Given the description of an element on the screen output the (x, y) to click on. 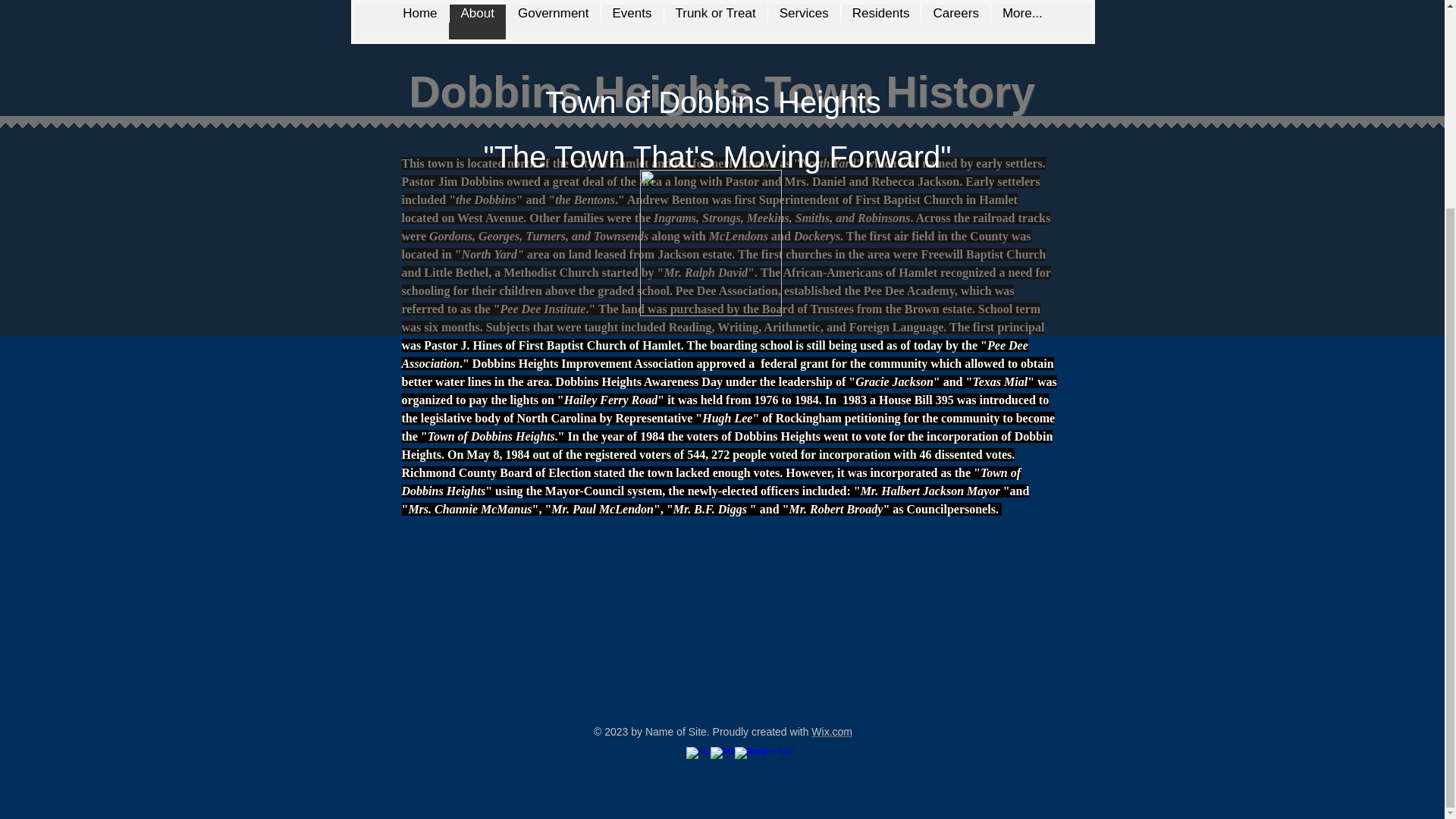
Wix.com (830, 731)
